Given the description of an element on the screen output the (x, y) to click on. 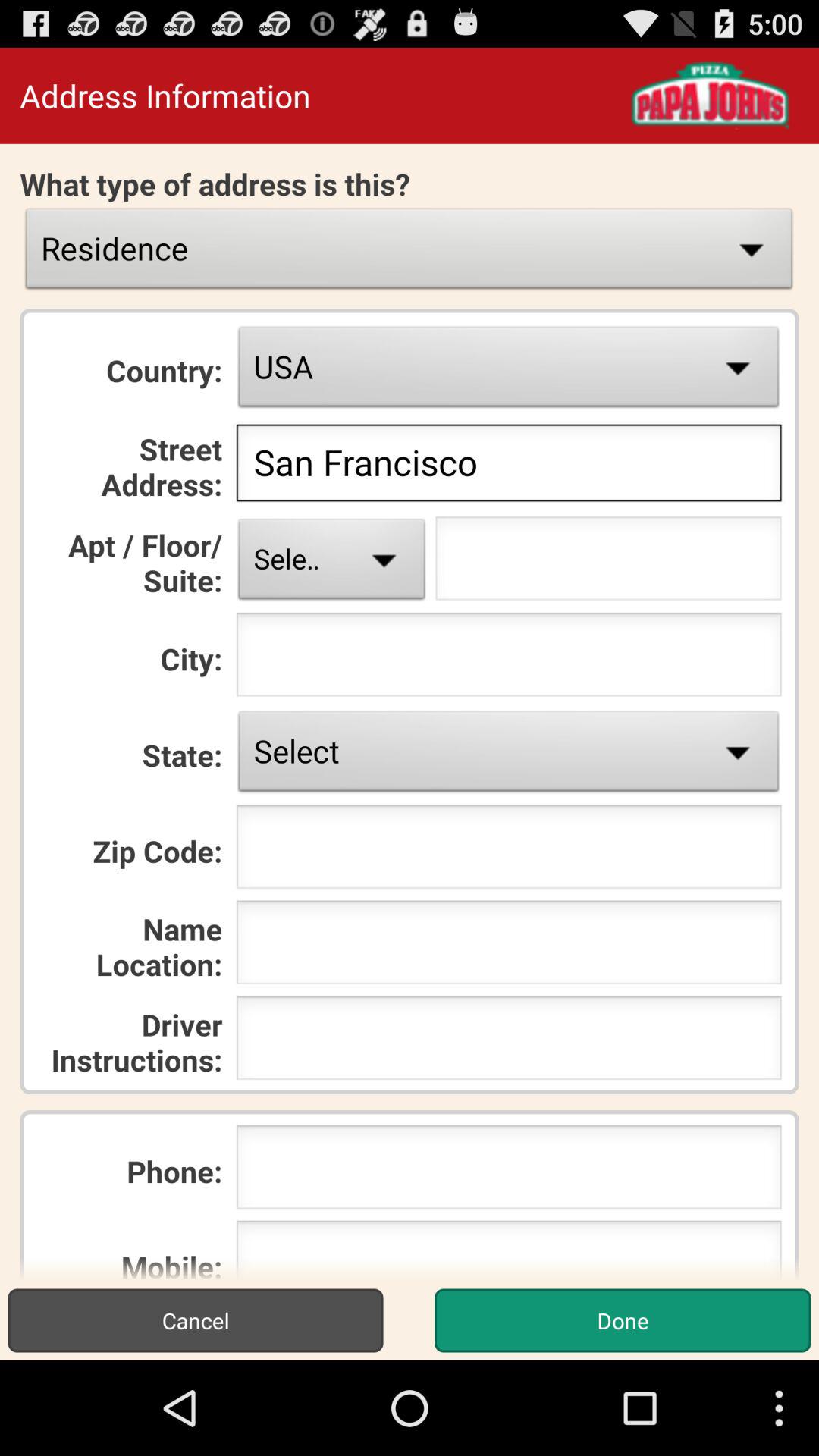
select the name (508, 946)
